Given the description of an element on the screen output the (x, y) to click on. 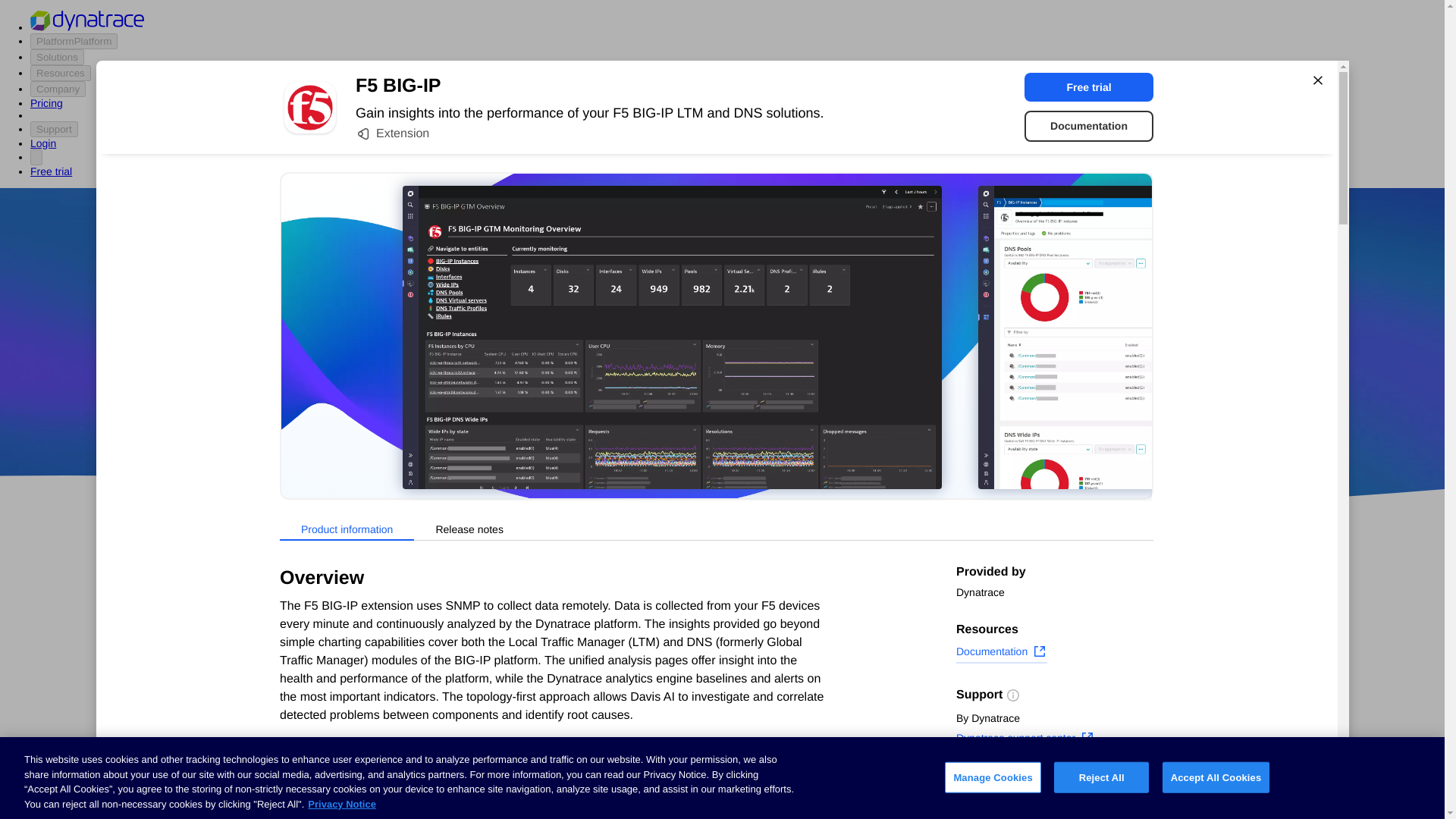
Documentation (1089, 125)
360performance (840, 375)
Advanced SSL Certificate Check for Dynatrace (606, 731)
Copy page link (1003, 806)
Azure (681, 418)
DevOps (829, 418)
Documentation (1001, 653)
 certificate ssl synthetic test (607, 793)
Open source (903, 418)
Google Cloud (751, 418)
Dynatrace support center (1025, 740)
AWS (637, 418)
Free trial (1089, 86)
Subscribe to new releases (1054, 782)
360performance (840, 375)
